Given the description of an element on the screen output the (x, y) to click on. 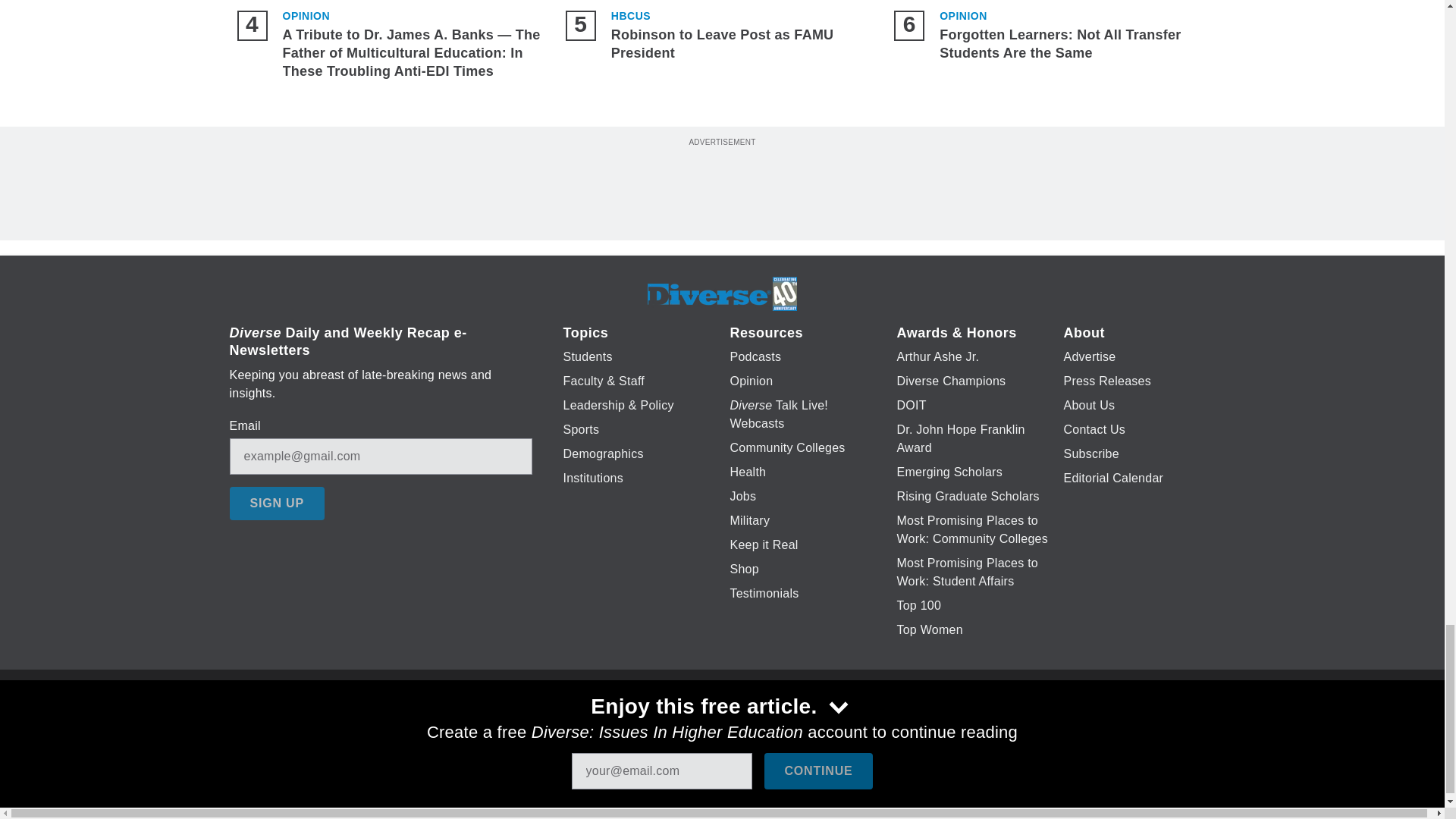
Facebook icon (635, 727)
LinkedIn icon (718, 727)
Twitter X icon (674, 727)
Instagram icon (796, 727)
YouTube icon (757, 727)
